Given the description of an element on the screen output the (x, y) to click on. 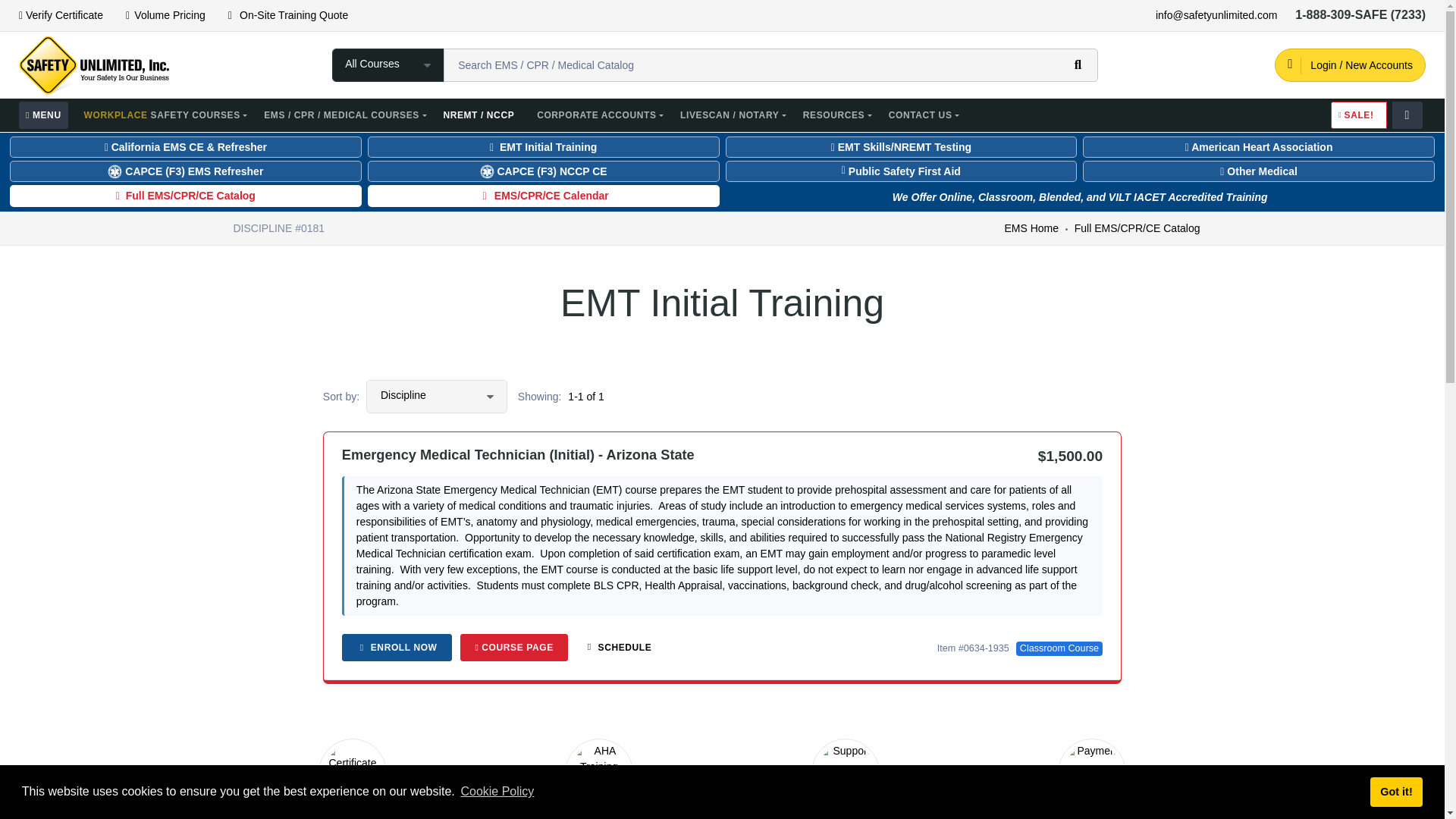
CONTACT US (924, 114)
Complete Catalogs (43, 114)
Volume Pricing (162, 15)
Volume Pricing (162, 15)
American Heart Association (1258, 147)
 MENU (43, 114)
 SCHEDULE (617, 646)
 EMT Initial Training (543, 147)
Got it! (1396, 791)
On-Site Training Quote (286, 15)
WORKPLACE SAFETY COURSES (165, 114)
Cookie Policy (496, 791)
Log In (1350, 65)
EMS Home (1031, 227)
